Given the description of an element on the screen output the (x, y) to click on. 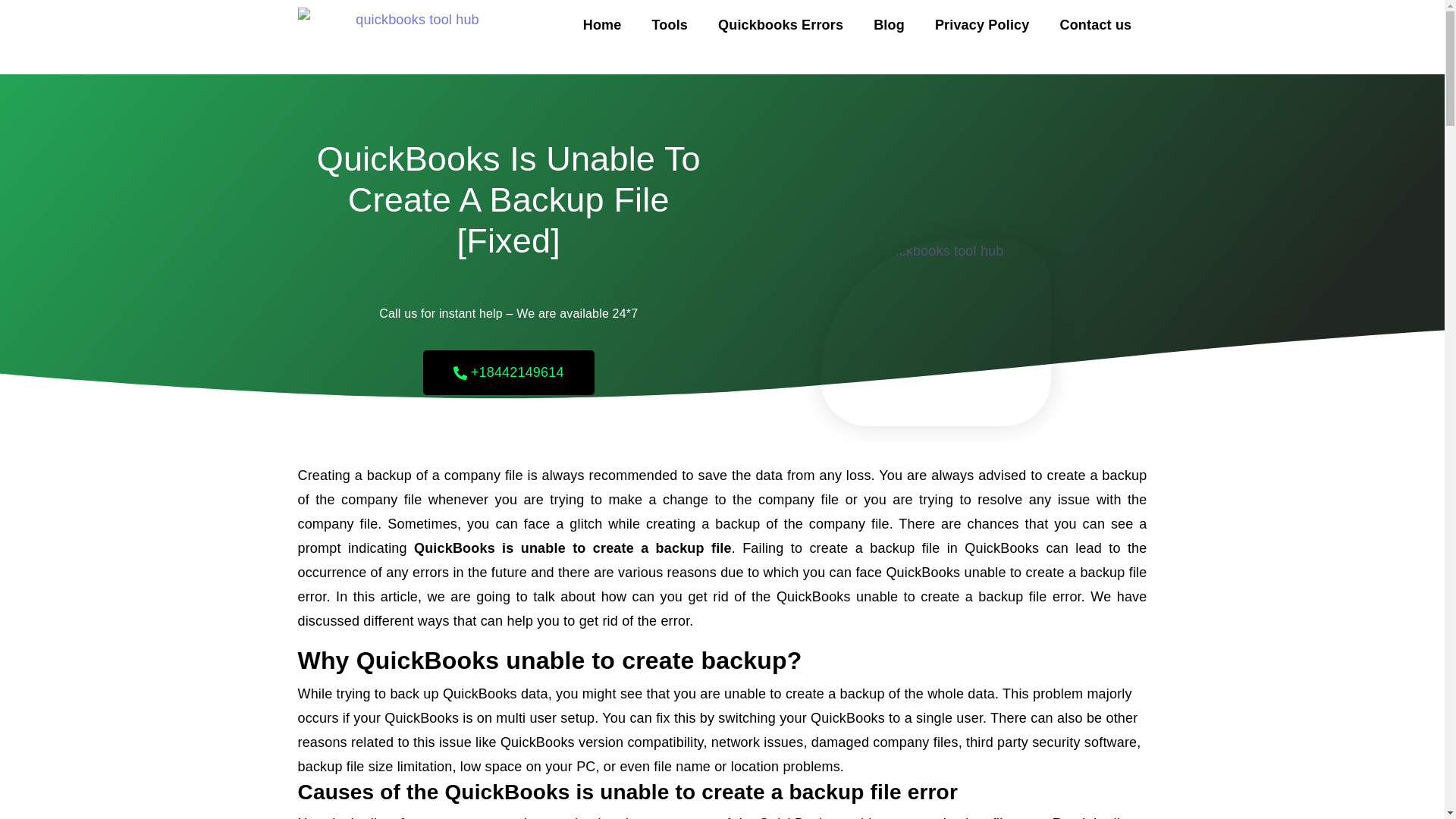
Blog (889, 24)
Tools (669, 24)
Privacy Policy (982, 24)
Contact us (1095, 24)
Quickbooks Errors (781, 24)
Home (602, 24)
